Given the description of an element on the screen output the (x, y) to click on. 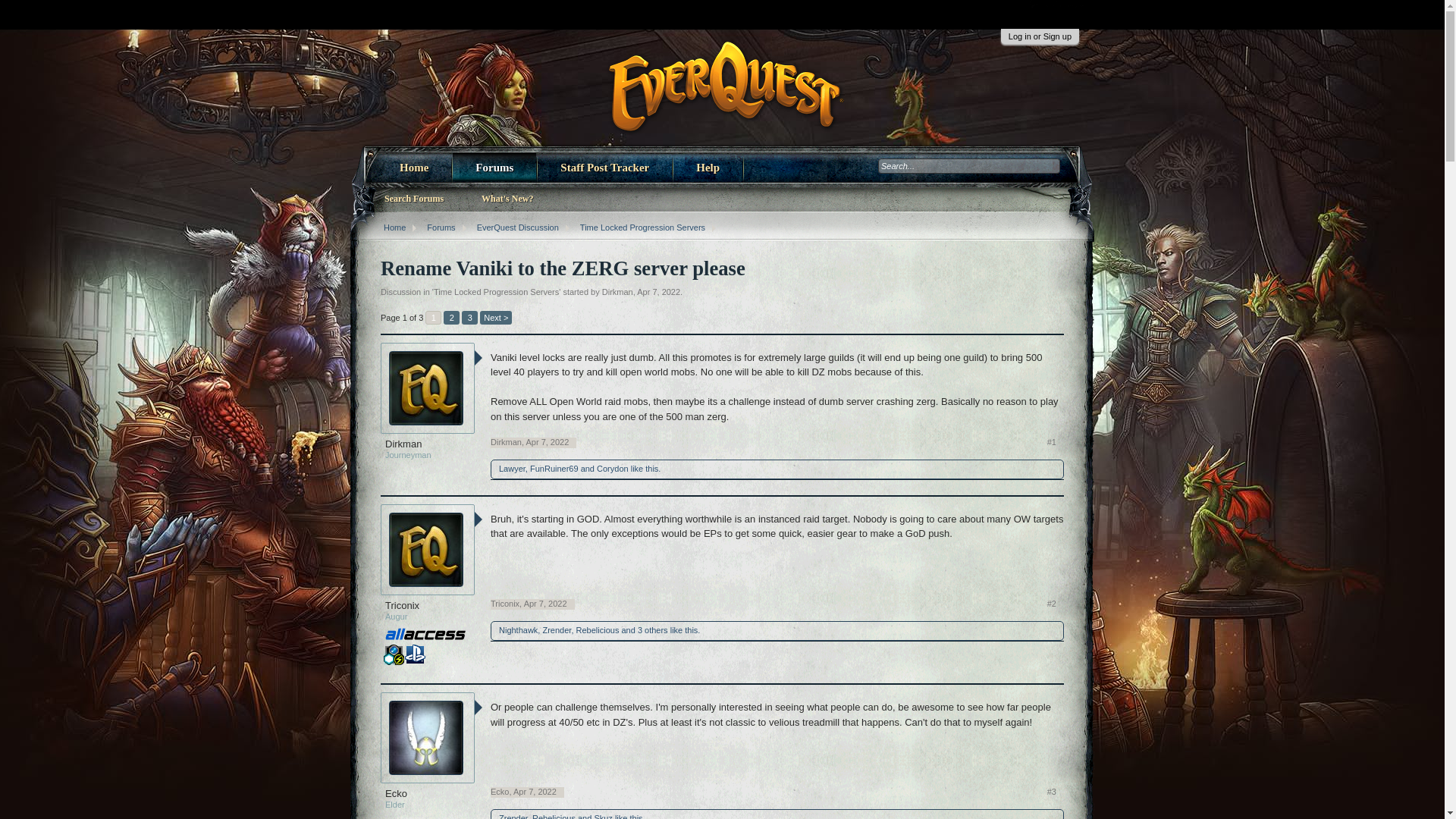
Corydon (612, 468)
EverQuest Discussion (514, 227)
Apr 7, 2022 (547, 441)
Time Locked Progression Servers (639, 227)
Zrender (555, 629)
Triconix (427, 605)
Log in or Sign up (1040, 35)
3 (469, 317)
Dirkman (427, 444)
3 others (652, 629)
